Given the description of an element on the screen output the (x, y) to click on. 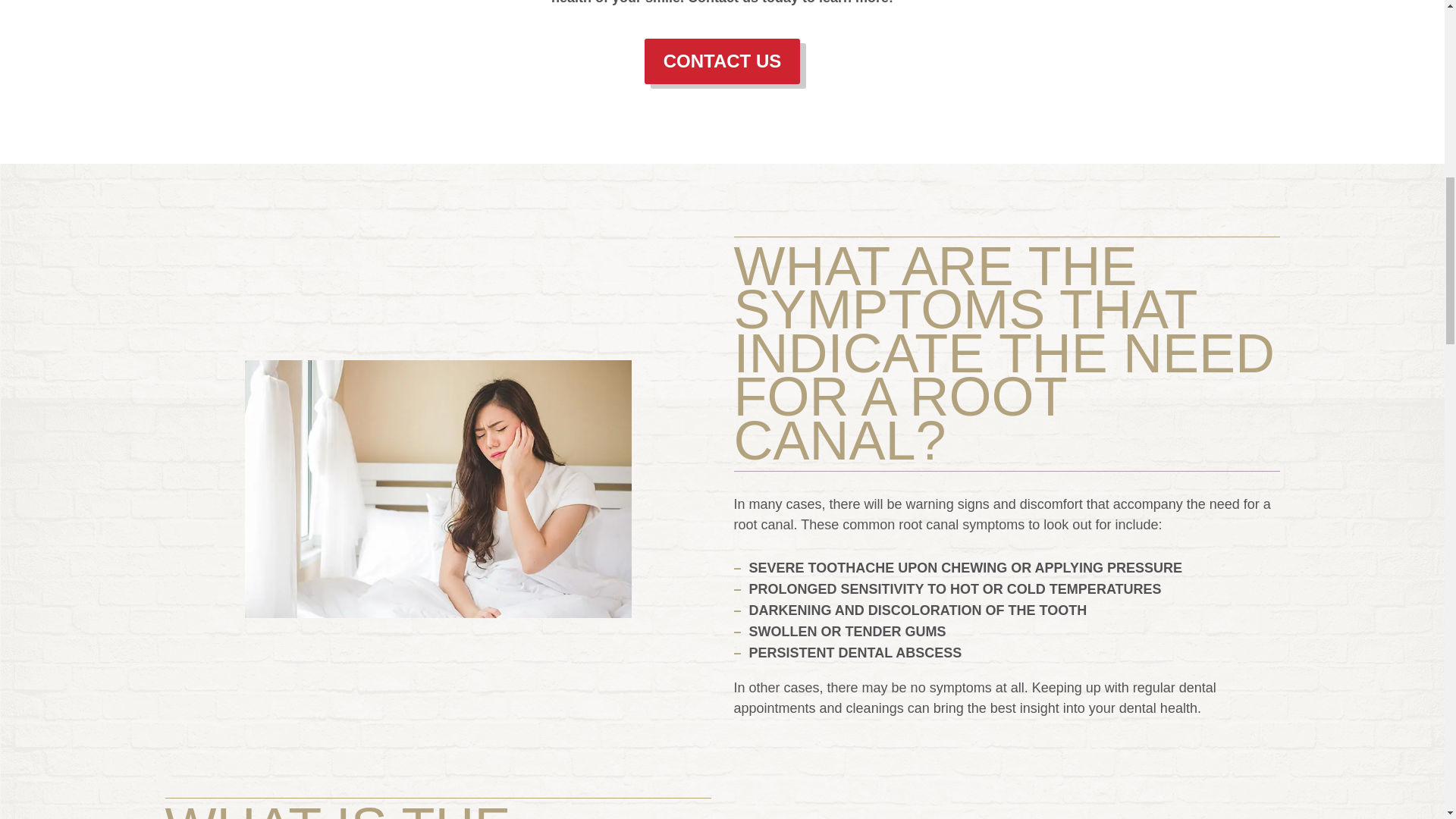
CONTACT US (722, 61)
